Given the description of an element on the screen output the (x, y) to click on. 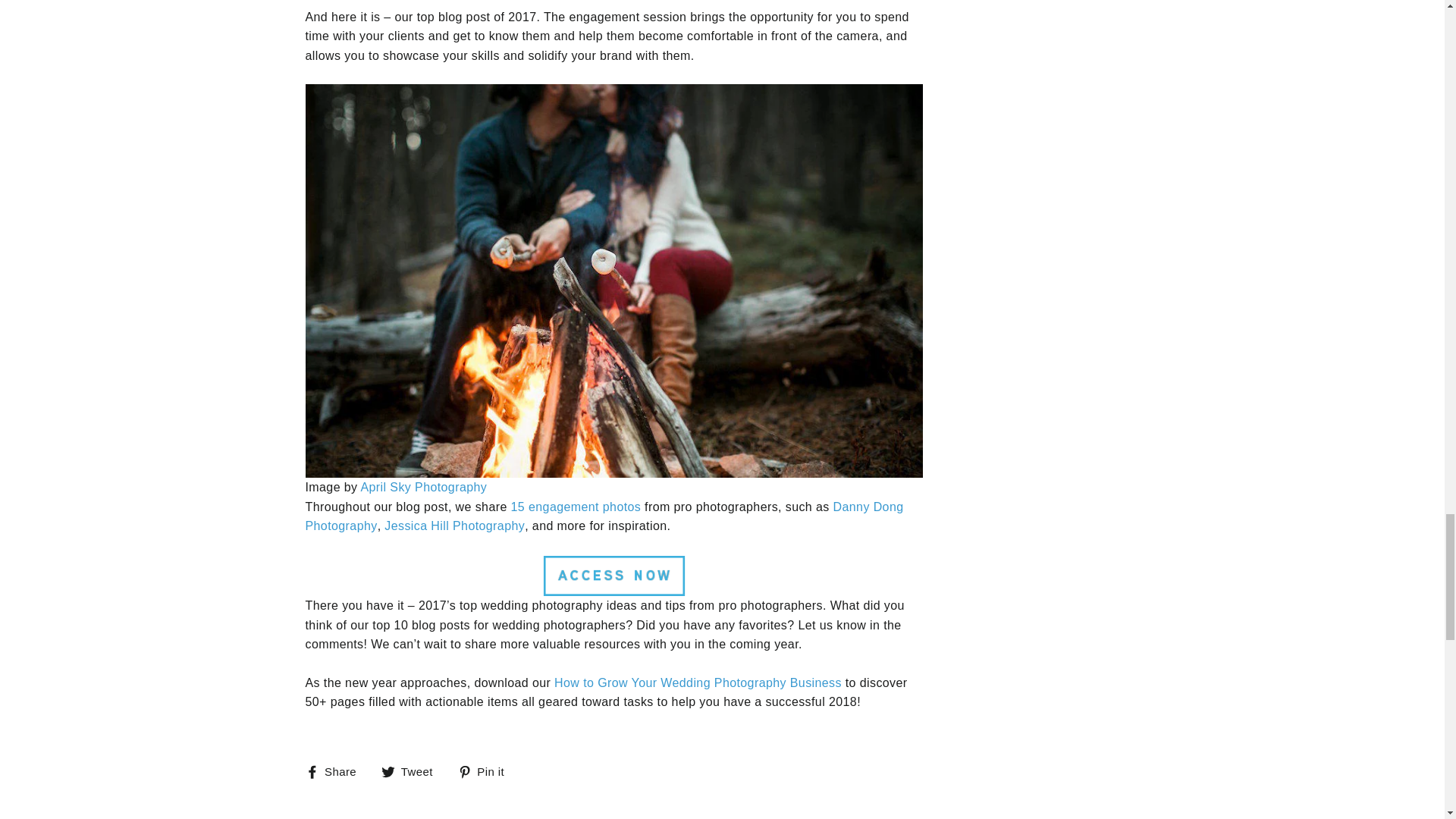
Tweet on Twitter (412, 771)
Share on Facebook (336, 771)
Pin on Pinterest (486, 771)
